Given the description of an element on the screen output the (x, y) to click on. 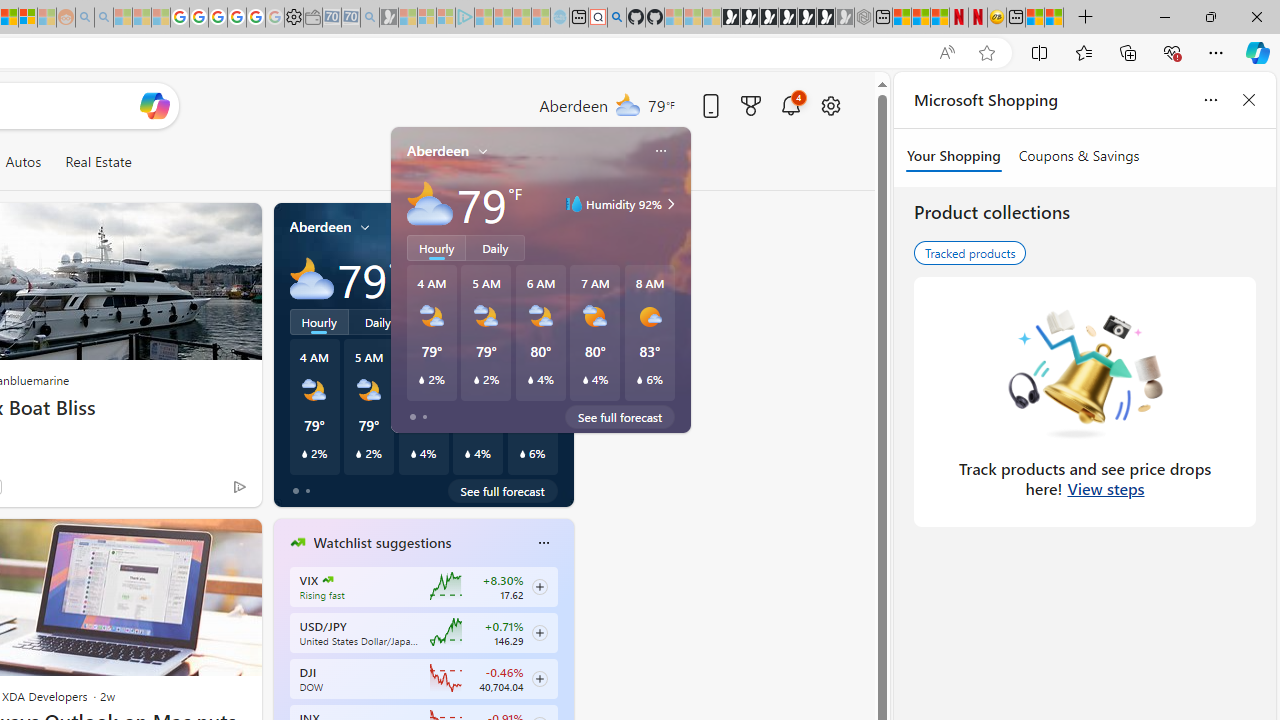
tab-0 (295, 490)
Humidity 92% (551, 278)
